Given the description of an element on the screen output the (x, y) to click on. 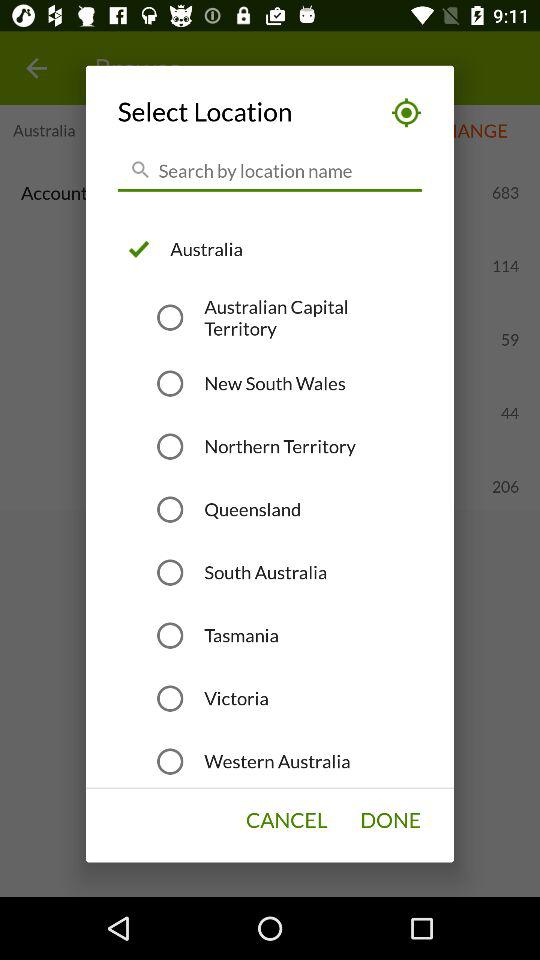
turn on the victoria item (236, 698)
